Given the description of an element on the screen output the (x, y) to click on. 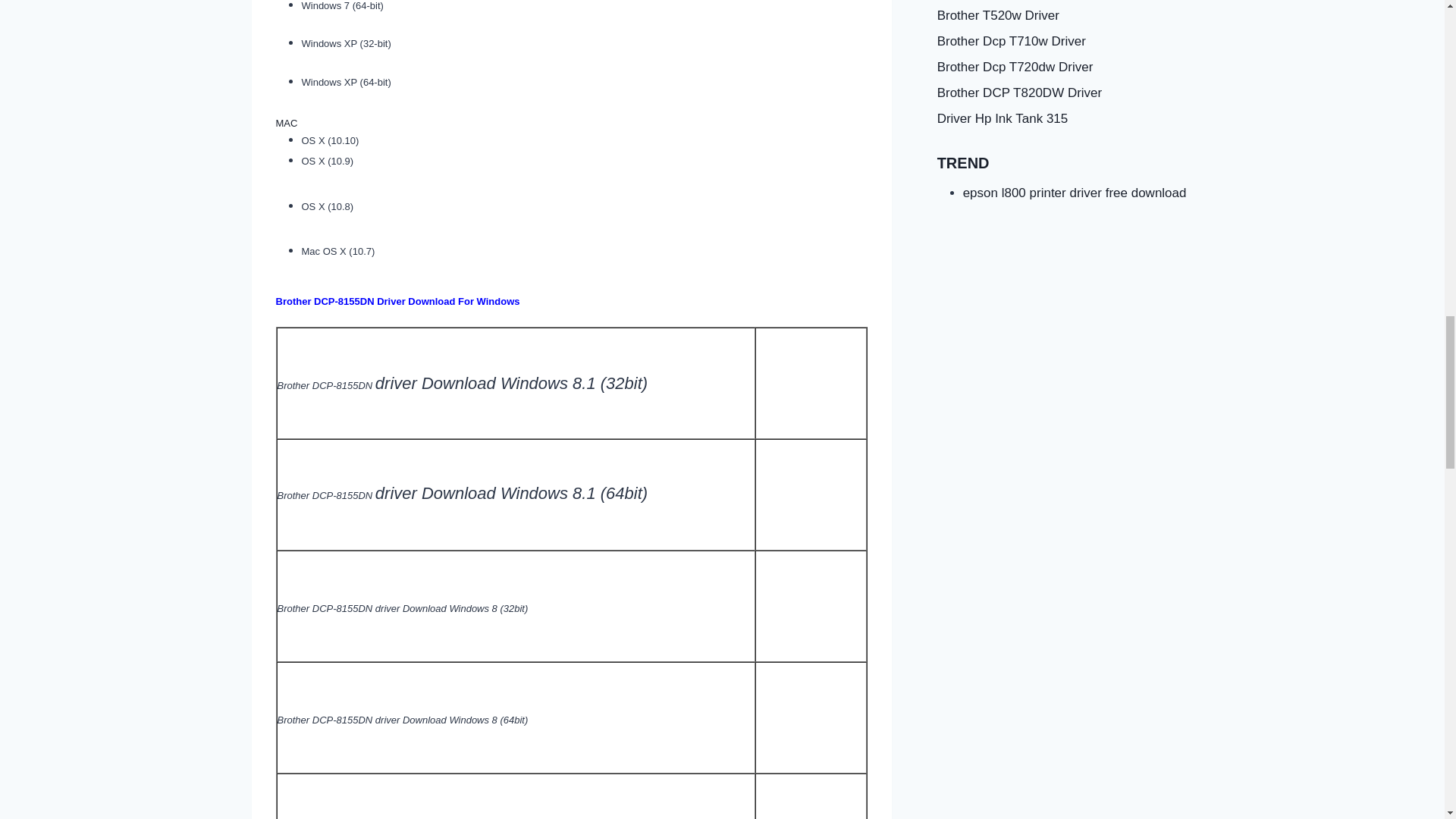
download (810, 717)
download (810, 605)
download (810, 494)
download (810, 383)
download (810, 796)
